Given the description of an element on the screen output the (x, y) to click on. 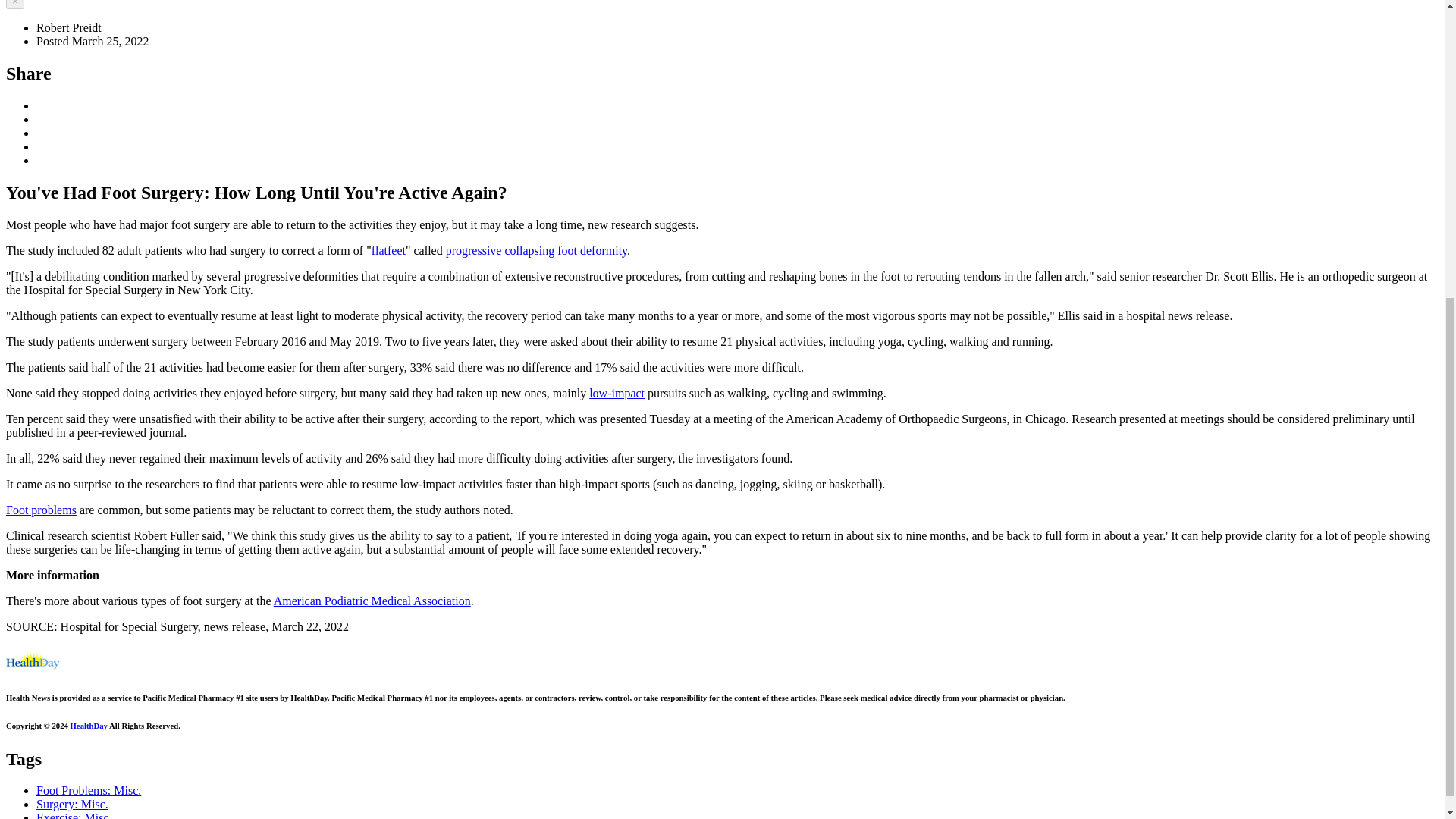
flatfeet (388, 250)
Foot problems (41, 509)
HealthDay (88, 725)
Foot Problems: Misc. (88, 789)
American Podiatric Medical Association (371, 600)
low-impact (617, 392)
Surgery: Misc. (71, 803)
progressive collapsing foot deformity (536, 250)
